Given the description of an element on the screen output the (x, y) to click on. 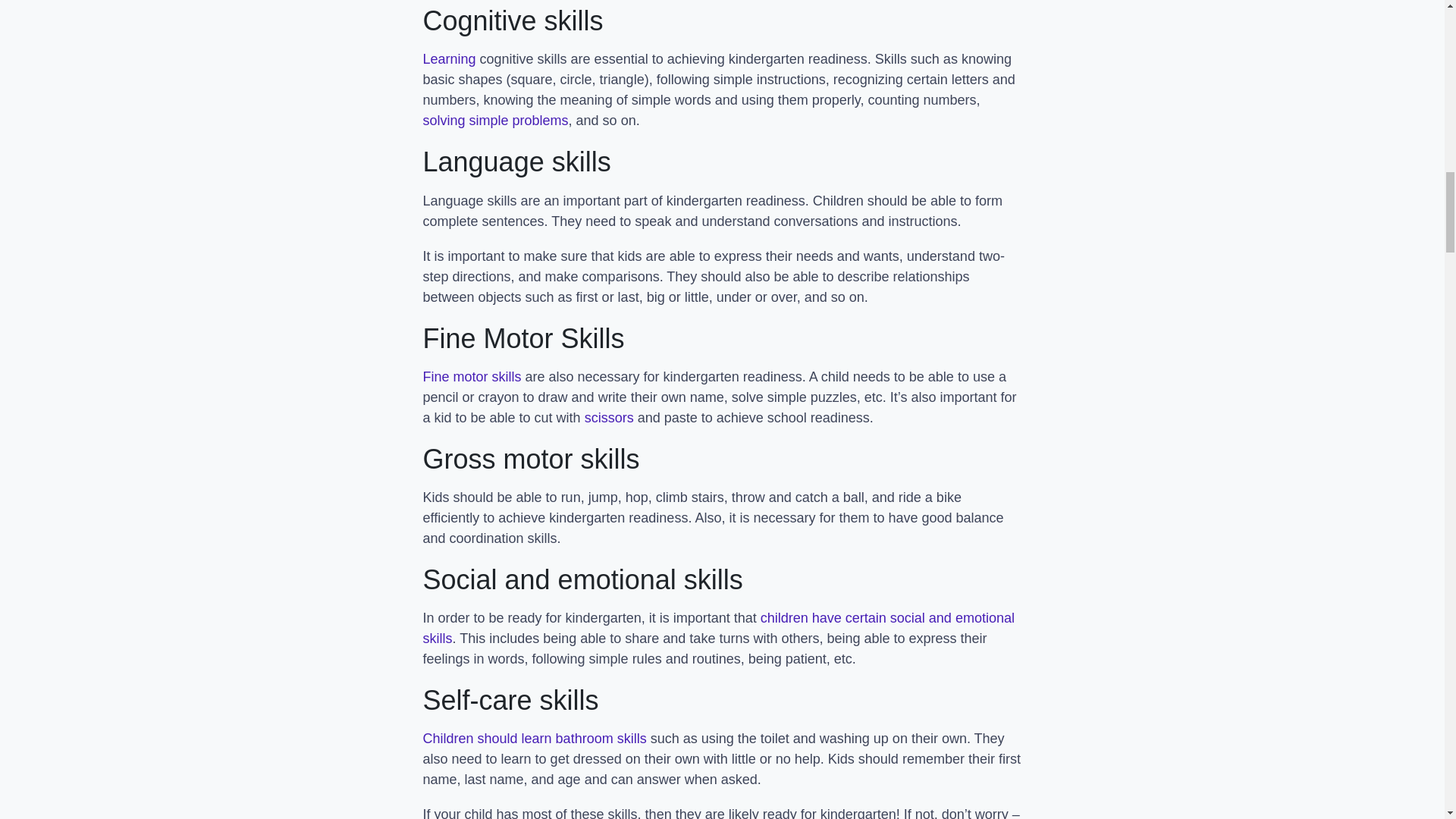
Fine motor skills (472, 376)
scissors (609, 417)
scissors (609, 417)
children have certain social and emotional skills (718, 628)
Fine motor skills (472, 376)
Learning (449, 58)
Learning (449, 58)
solving simple problems (496, 120)
Children should learn bathroom skills (534, 738)
